Given the description of an element on the screen output the (x, y) to click on. 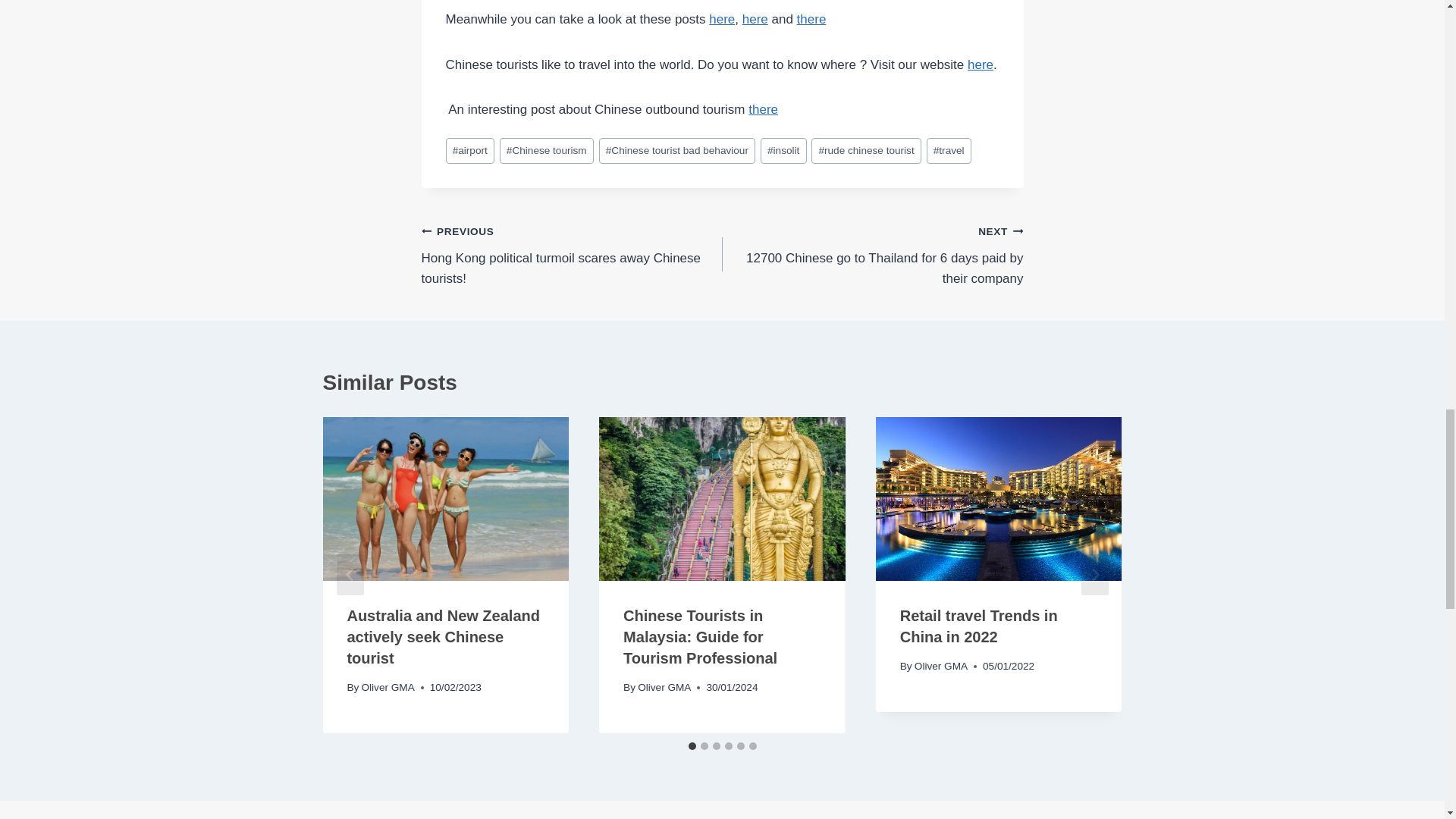
airport (470, 151)
here (755, 19)
there (762, 109)
insolit (783, 151)
there (811, 19)
here (722, 19)
Chinese tourist bad behaviour (676, 151)
here (980, 64)
travel (948, 151)
Chinese tourism (546, 151)
rude chinese tourist (865, 151)
